Given the description of an element on the screen output the (x, y) to click on. 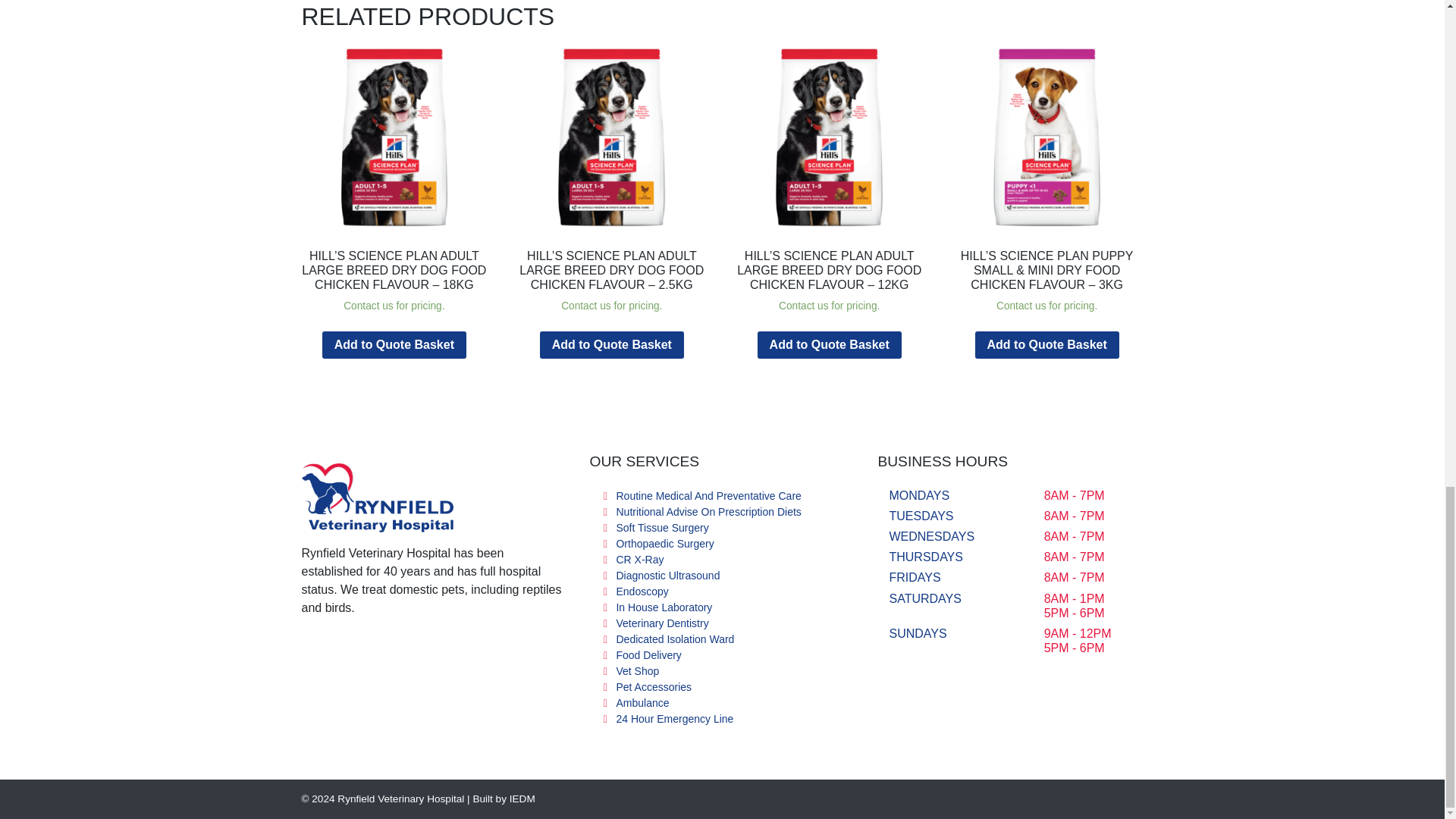
Add to Quote Basket (829, 344)
Add to Quote Basket (612, 344)
IEDM Digital Marketing (502, 798)
Routine Medical And Preventative Care (707, 495)
Add to Quote Basket (393, 344)
Add to Quote Basket (1047, 344)
